Given the description of an element on the screen output the (x, y) to click on. 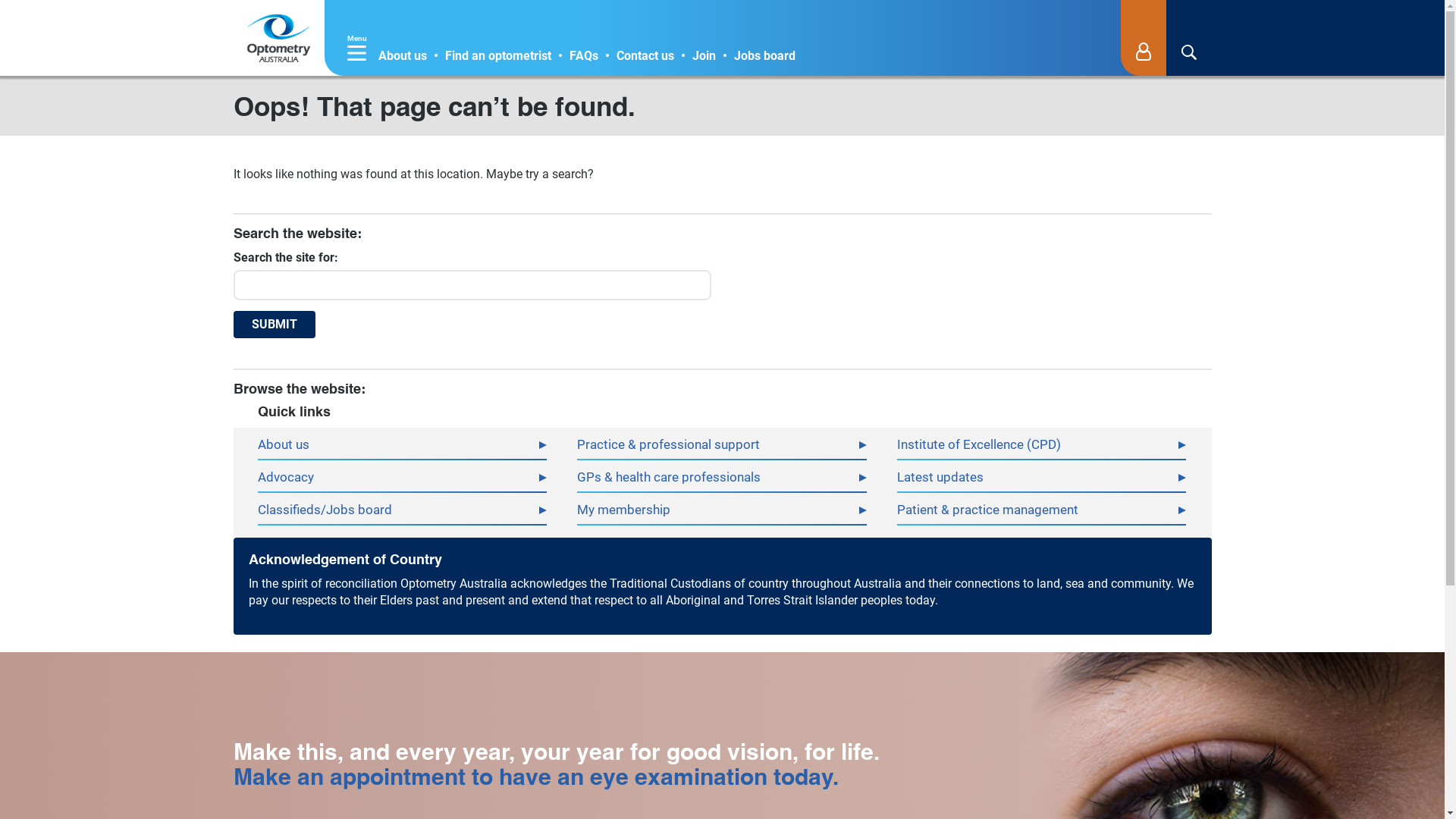
About us Element type: text (401, 444)
Jobs board Element type: text (764, 55)
Patient & practice management Element type: text (1041, 510)
My membership Element type: text (721, 510)
Practice & professional support Element type: text (721, 444)
About us Element type: text (401, 55)
GPs & health care professionals Element type: text (721, 477)
Institute of Excellence (CPD) Element type: text (1041, 444)
Advocacy Element type: text (401, 477)
Join Element type: text (703, 55)
Classifieds/Jobs board Element type: text (401, 510)
Contact us Element type: text (644, 55)
FAQs Element type: text (582, 55)
Latest updates Element type: text (1041, 477)
Find an optometrist Element type: text (497, 55)
